Given the description of an element on the screen output the (x, y) to click on. 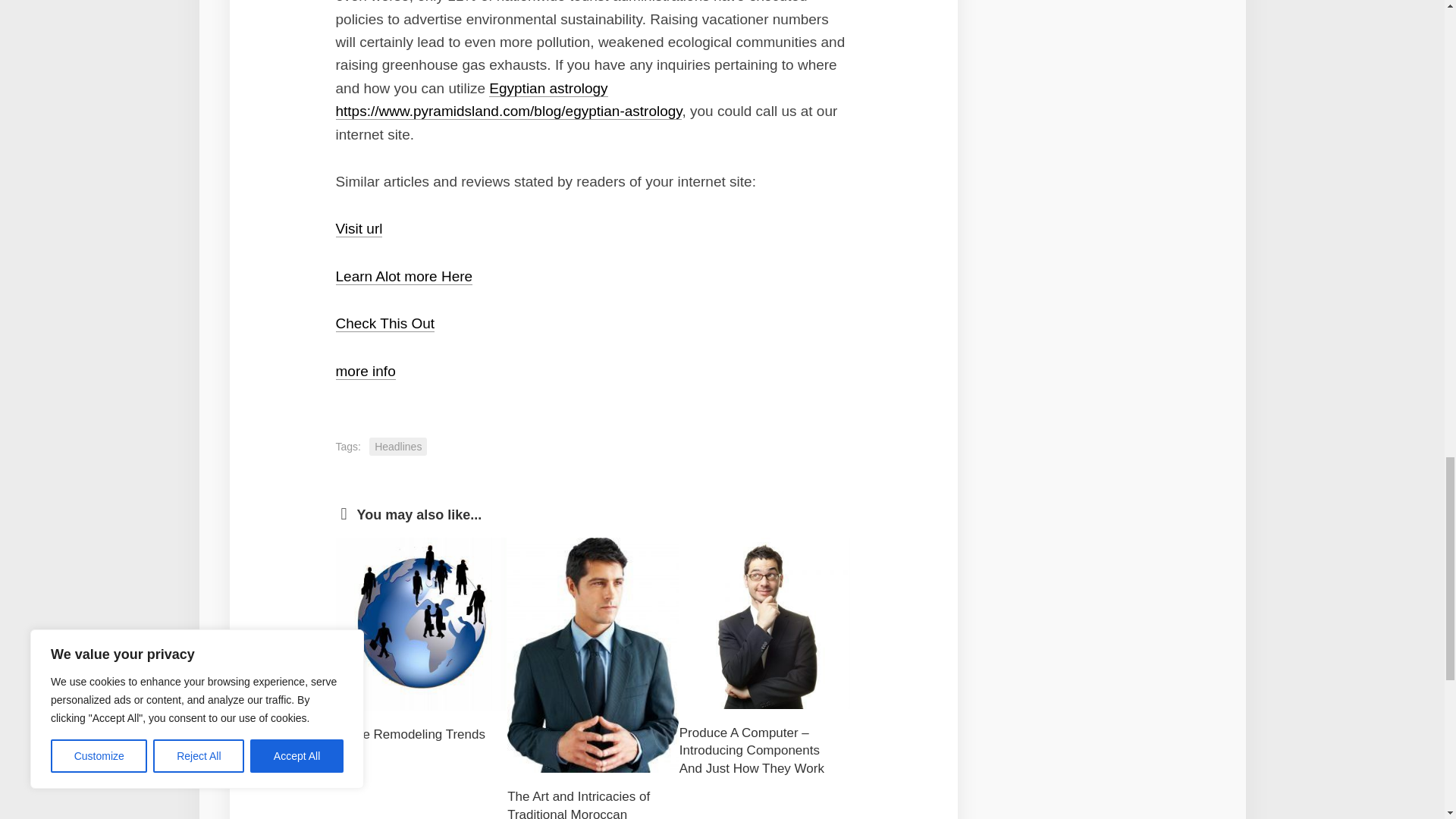
Headlines (397, 446)
more info (364, 371)
Learn Alot more Here (402, 276)
The Art and Intricacies of Traditional Moroccan Architecture (577, 804)
Home Remodeling Trends (409, 734)
Visit url (357, 228)
Check This Out (383, 323)
